Given the description of an element on the screen output the (x, y) to click on. 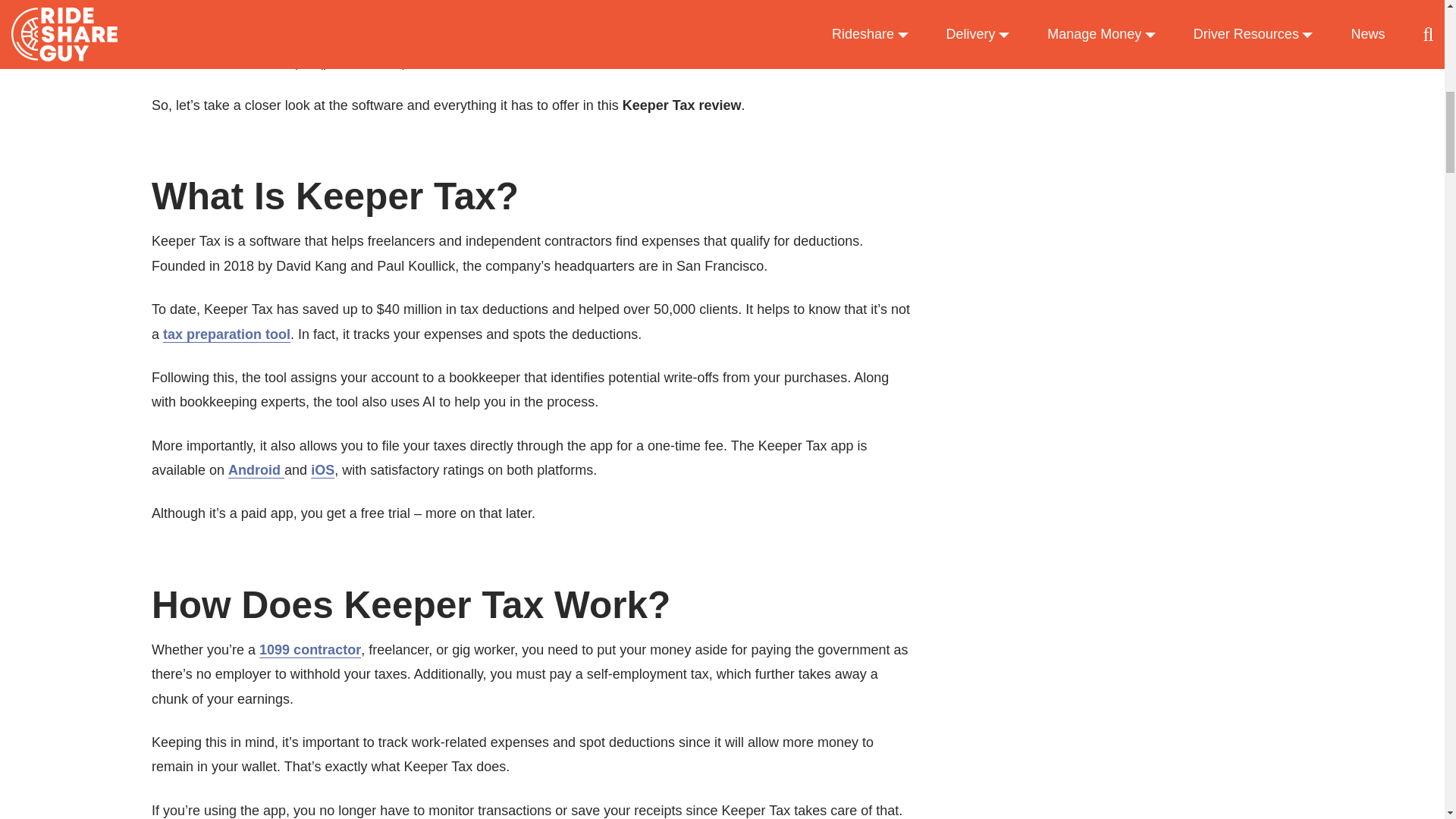
iOS (322, 469)
1099 contractor (310, 649)
tax preparation tool (226, 334)
Android (255, 469)
